Given the description of an element on the screen output the (x, y) to click on. 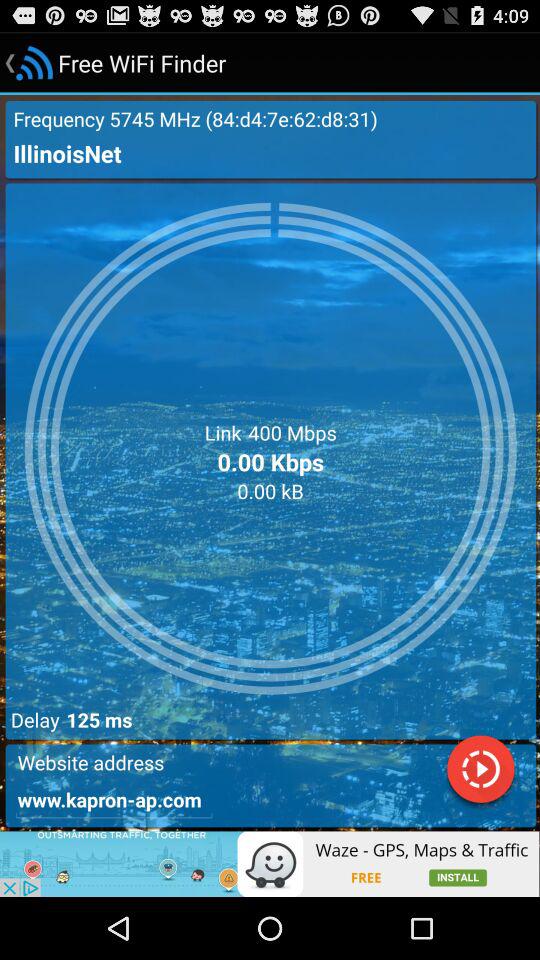
next (480, 772)
